Given the description of an element on the screen output the (x, y) to click on. 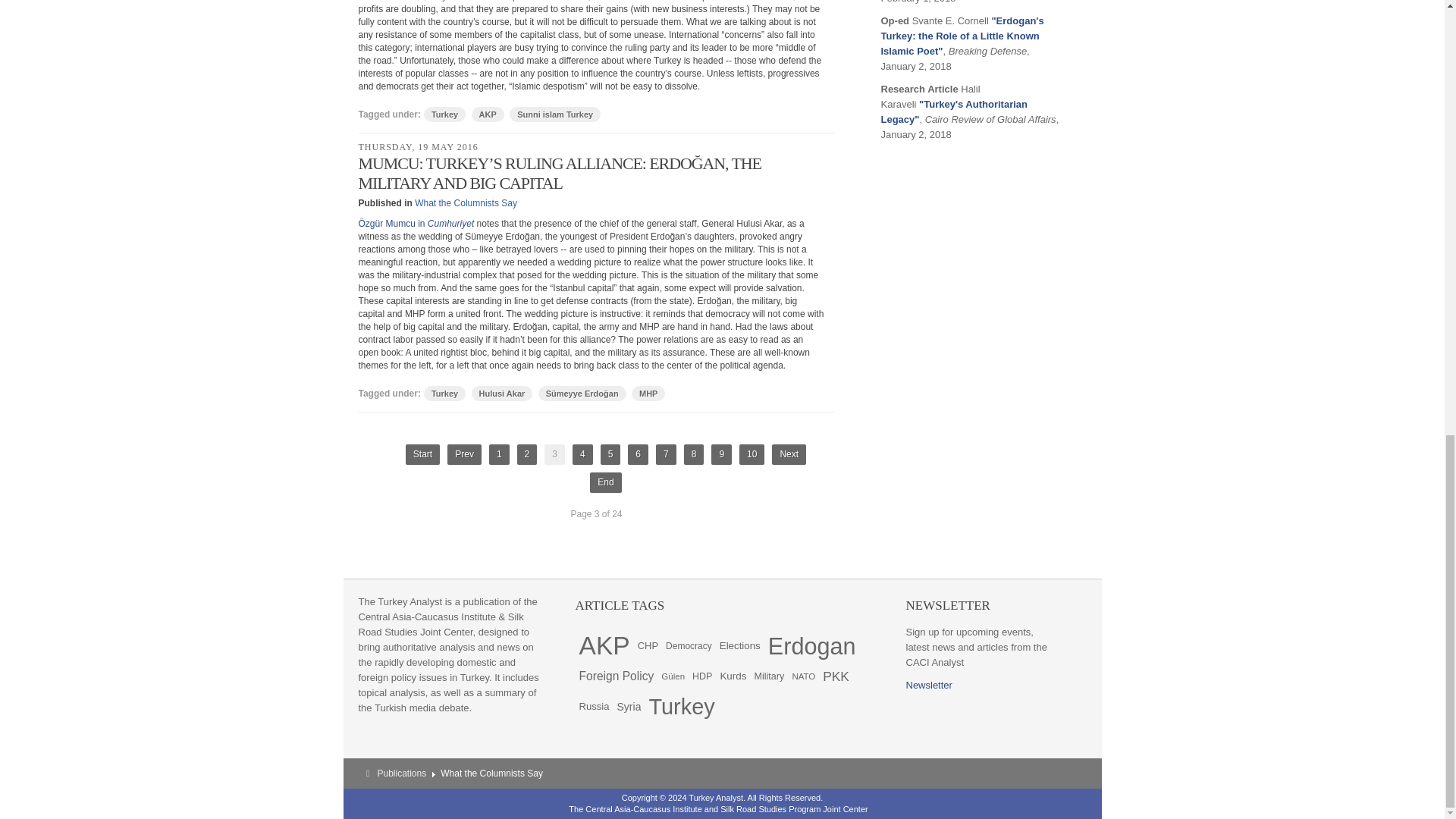
Turkey (444, 393)
1 (499, 454)
Next (788, 454)
8 (694, 454)
End (605, 482)
Start (422, 454)
7 (666, 454)
AKP (487, 114)
2 (526, 454)
38 items tagged with CHP (647, 645)
